Given the description of an element on the screen output the (x, y) to click on. 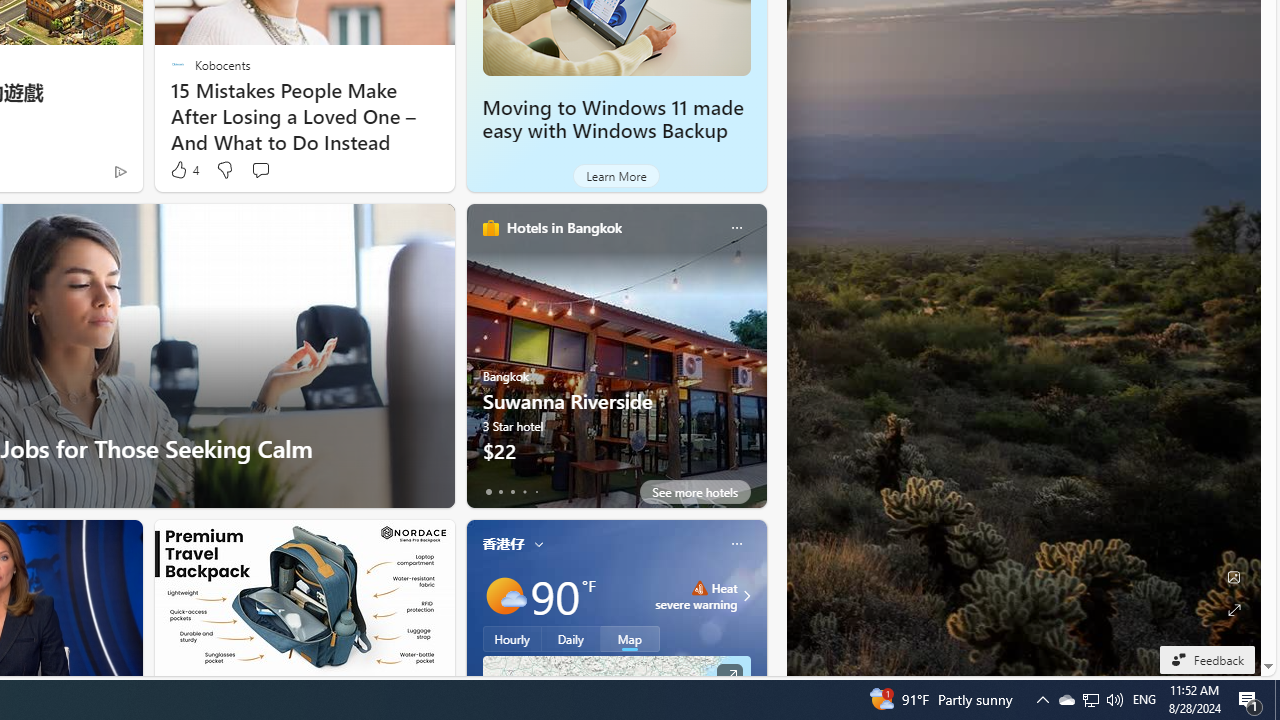
hotels-header-icon (490, 228)
My location (538, 543)
More options (736, 543)
